Given the description of an element on the screen output the (x, y) to click on. 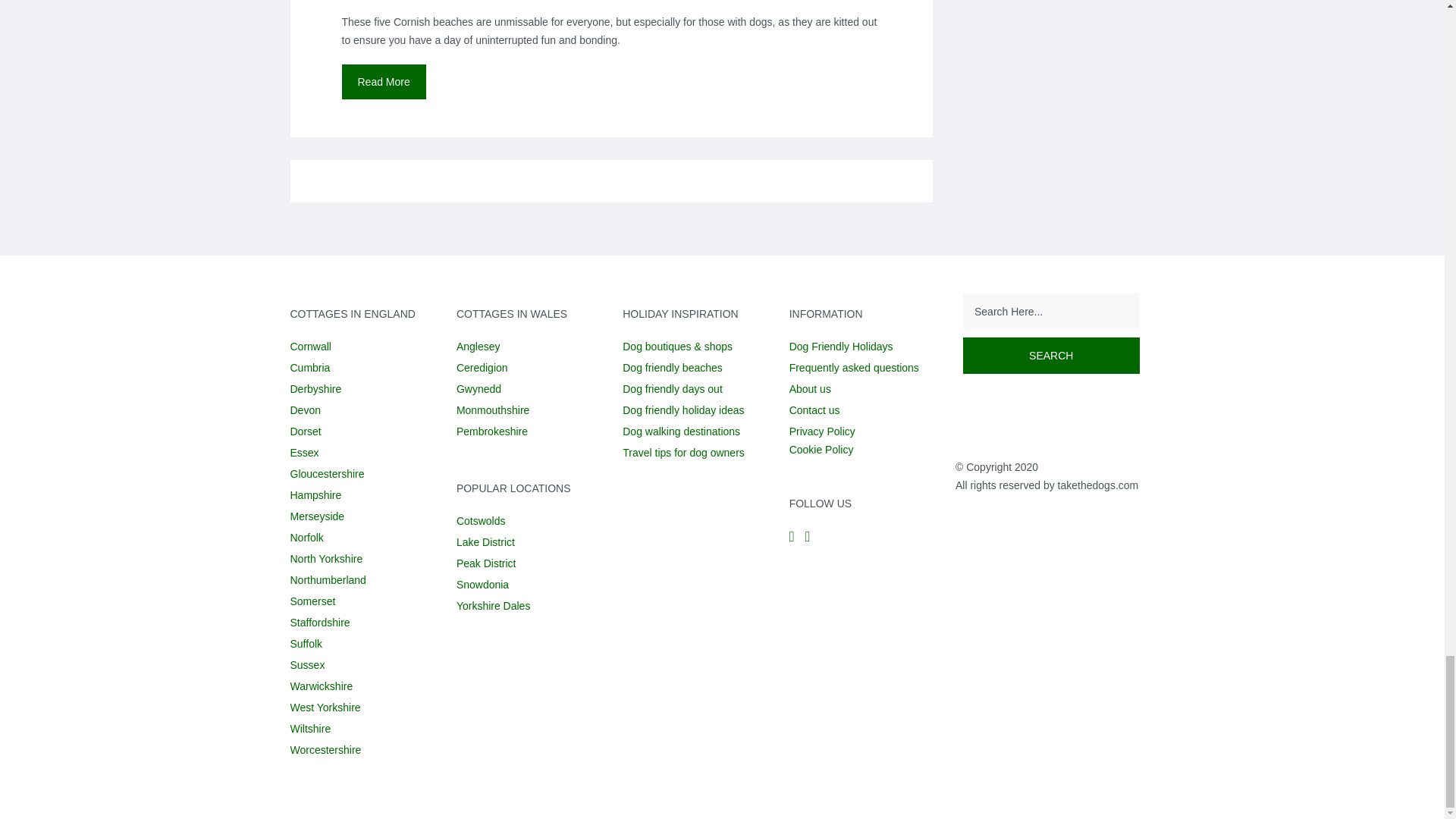
Search (1051, 355)
